Given the description of an element on the screen output the (x, y) to click on. 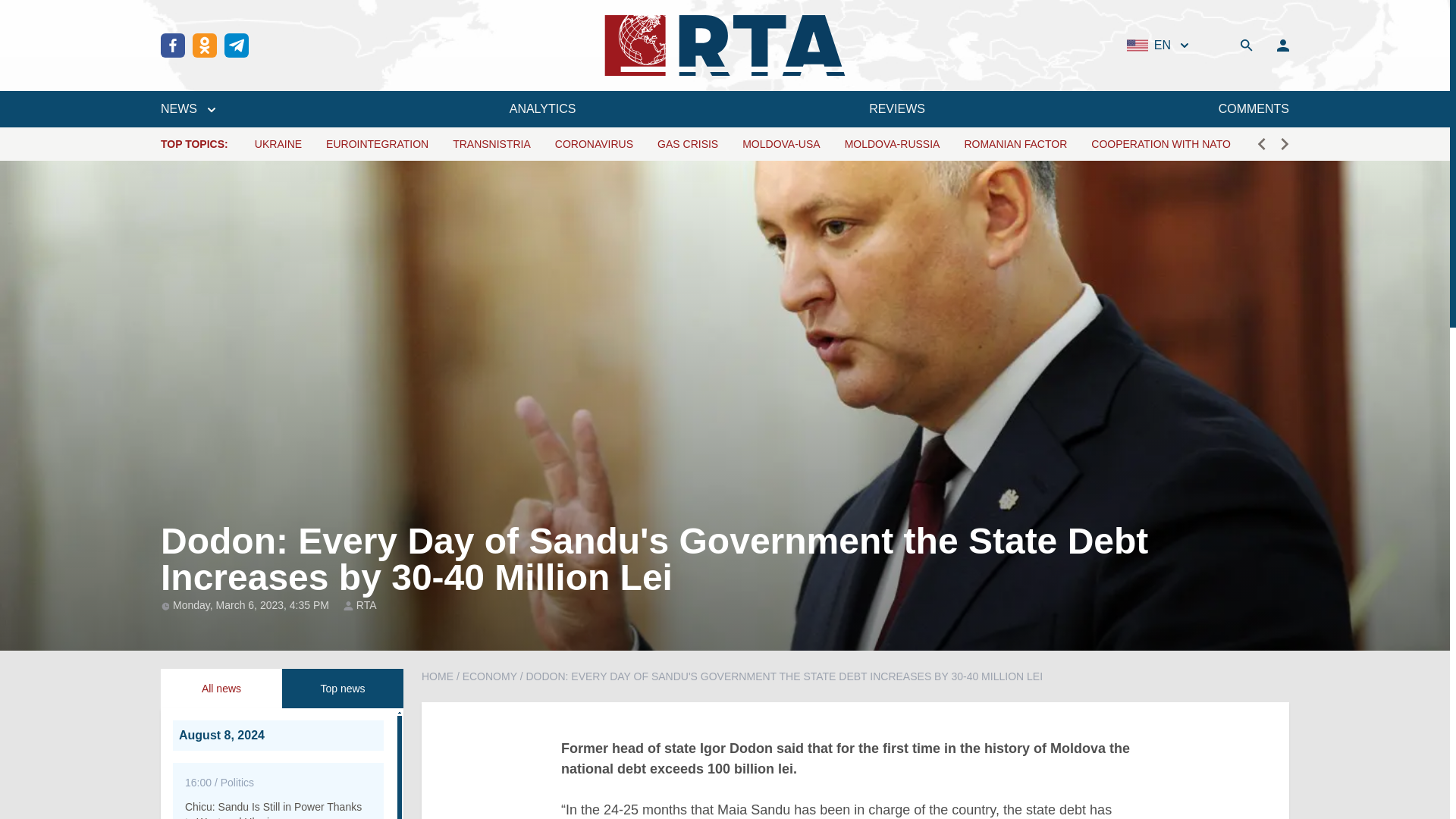
UKRAINE (277, 143)
TRANSNISTRIA (491, 143)
All news (221, 688)
MOLDOVA-USA (780, 143)
Top news (342, 688)
EUROINTEGRATION (377, 143)
COMMENTS (1253, 108)
Monday, March 6, 2023, 4:35 PM (252, 604)
EN (1159, 45)
COOPERATION WITH NATO (1160, 143)
